Given the description of an element on the screen output the (x, y) to click on. 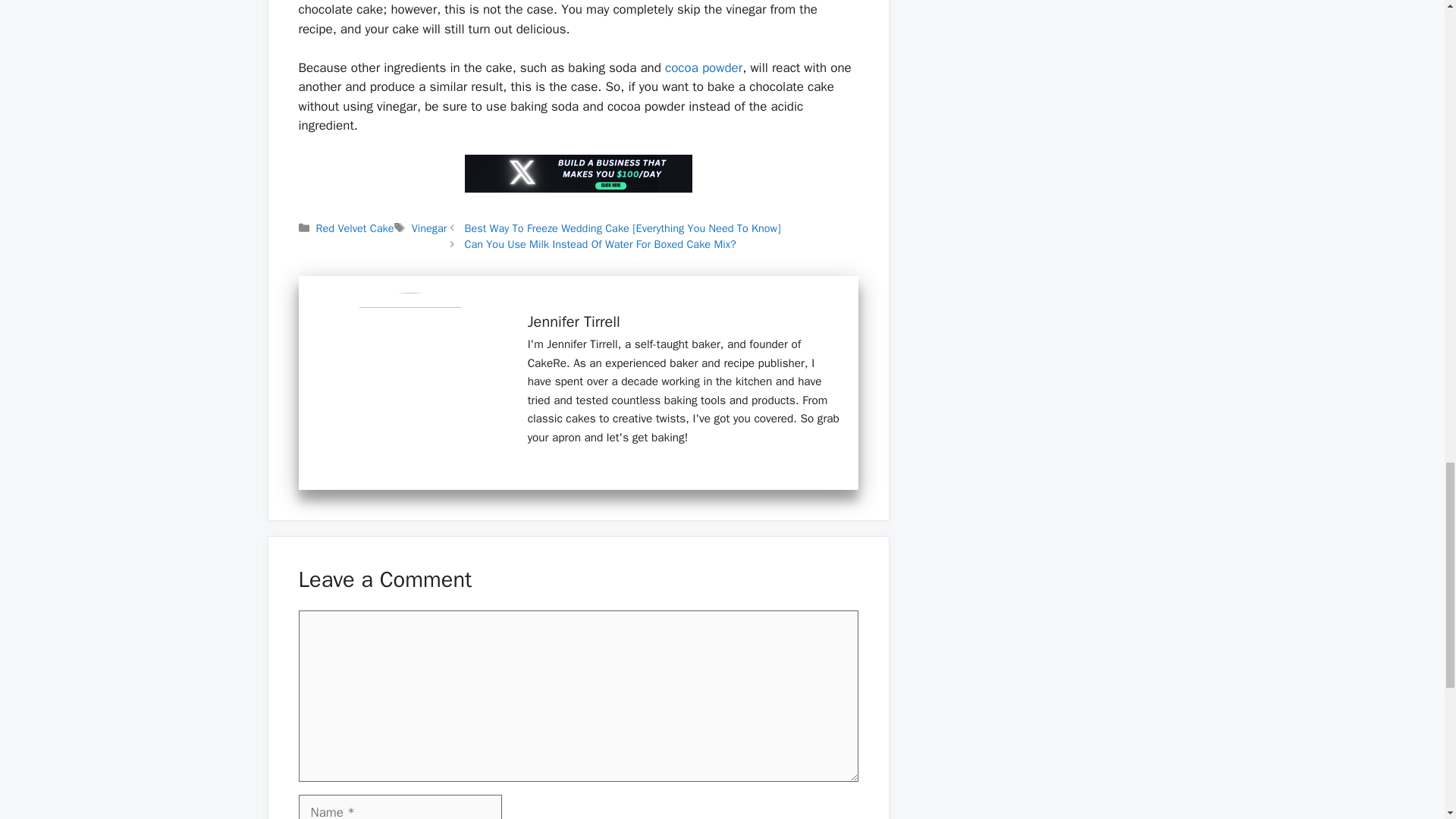
Red Velvet Cake (354, 228)
Can You Use Milk Instead Of Water For Boxed Cake Mix? (599, 243)
Vinegar (429, 228)
cocoa powder (703, 67)
